Given the description of an element on the screen output the (x, y) to click on. 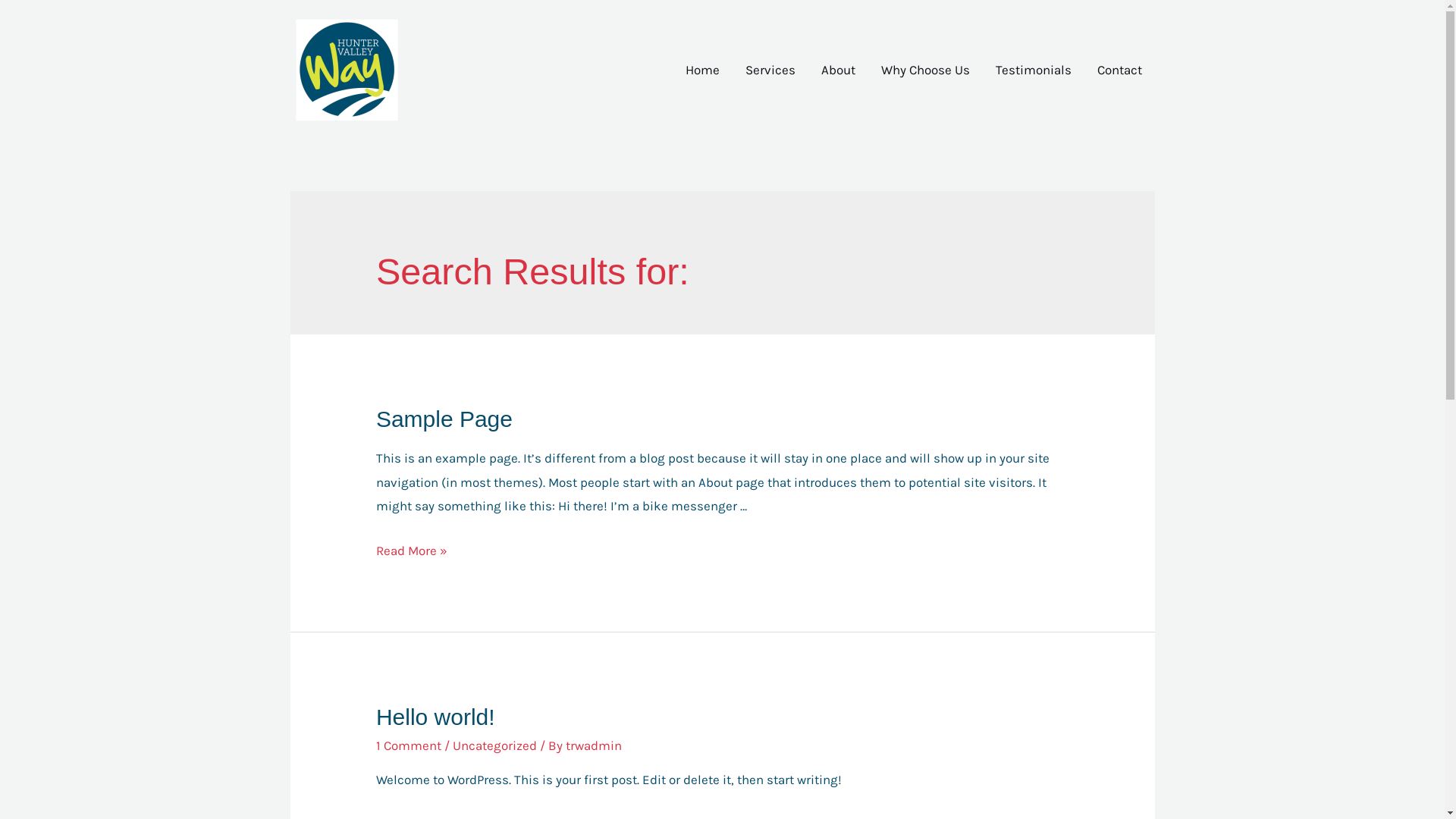
Sample Page Element type: text (444, 418)
Why Choose Us Element type: text (924, 69)
Home Element type: text (701, 69)
Contact Element type: text (1119, 69)
1 Comment Element type: text (408, 745)
Services Element type: text (770, 69)
Uncategorized Element type: text (494, 745)
Hello world! Element type: text (435, 716)
trwadmin Element type: text (593, 745)
About Element type: text (838, 69)
Testimonials Element type: text (1033, 69)
